Given the description of an element on the screen output the (x, y) to click on. 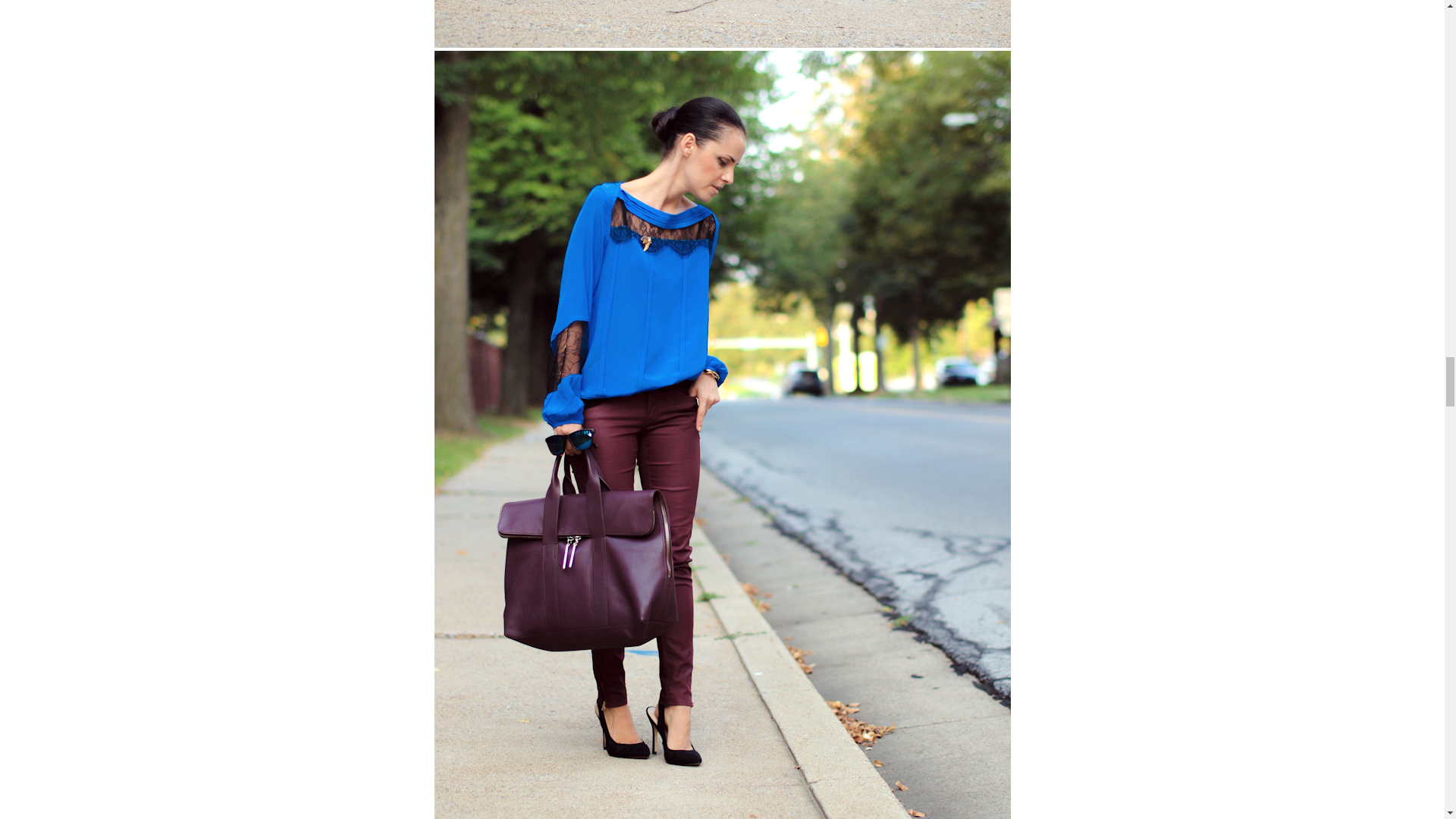
Glimpses of Fall Colors (721, 23)
